Given the description of an element on the screen output the (x, y) to click on. 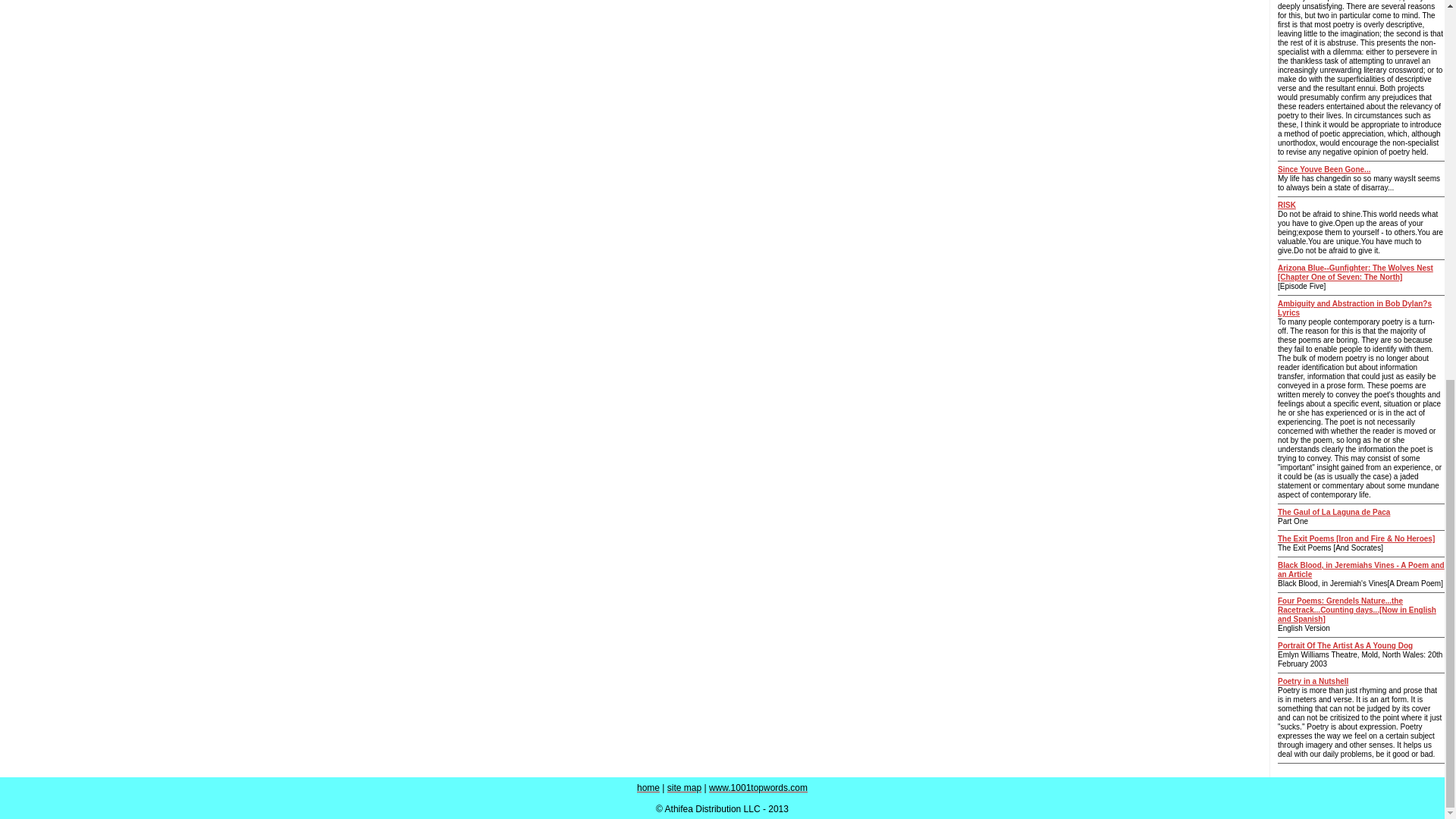
Portrait Of The Artist As A Young Dog (1345, 645)
home (648, 787)
site map (683, 787)
The Gaul of La Laguna de Paca (1334, 511)
RISK (1286, 204)
Ambiguity and Abstraction in Bob Dylan?s Lyrics (1354, 307)
www.1001topwords.com (758, 787)
Since Youve Been Gone... (1324, 169)
Poetry in a Nutshell (1313, 681)
